Given the description of an element on the screen output the (x, y) to click on. 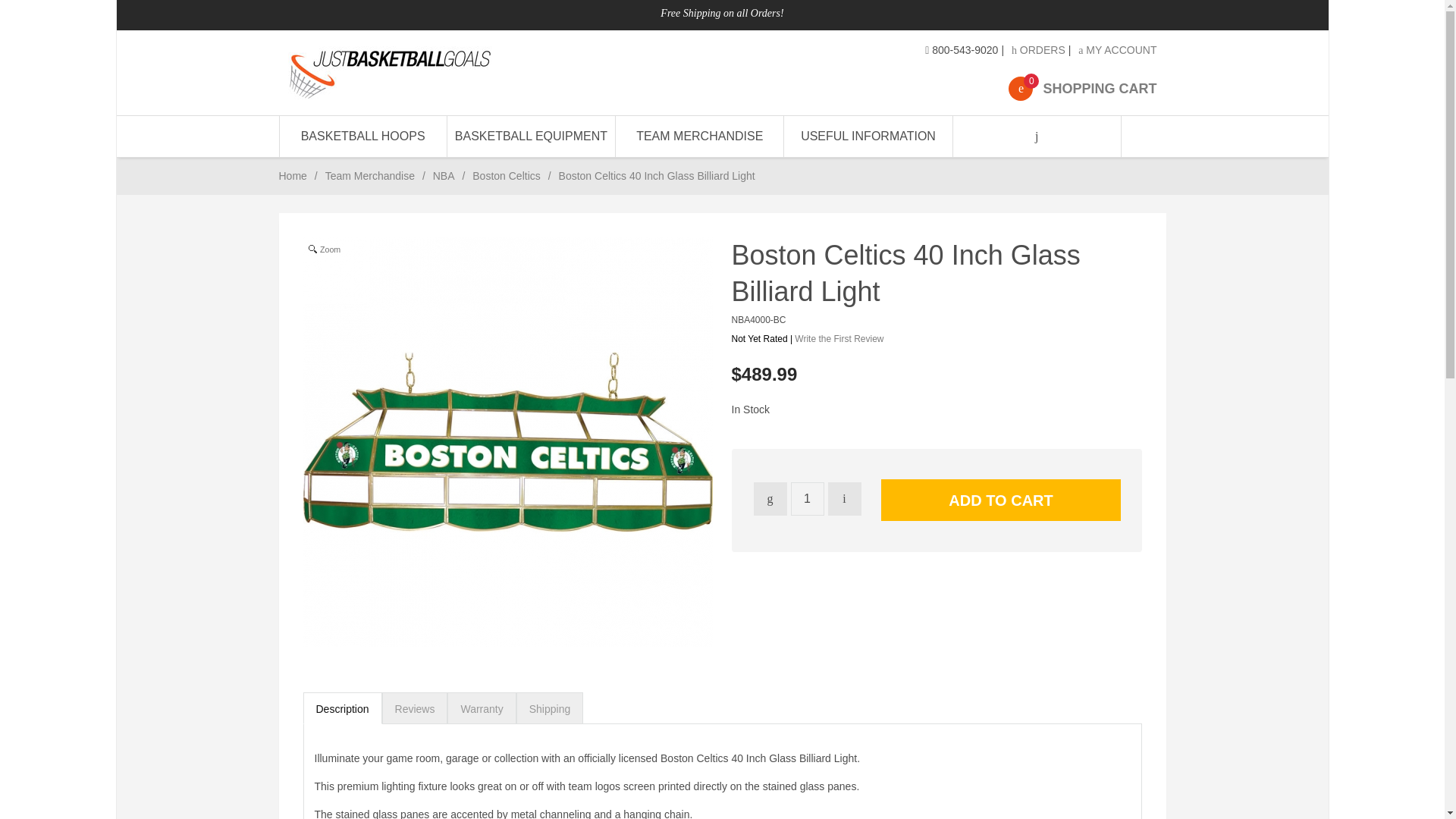
NBA (443, 175)
Boston Celtics (505, 175)
MY ACCOUNT (1117, 50)
BASKETBALL HOOPS (362, 136)
Team Merchandise (369, 175)
ORDERS (1082, 87)
USEFUL INFORMATION (1038, 50)
BASKETBALL EQUIPMENT (868, 136)
Welcome to Moda Suivant (530, 136)
